Given the description of an element on the screen output the (x, y) to click on. 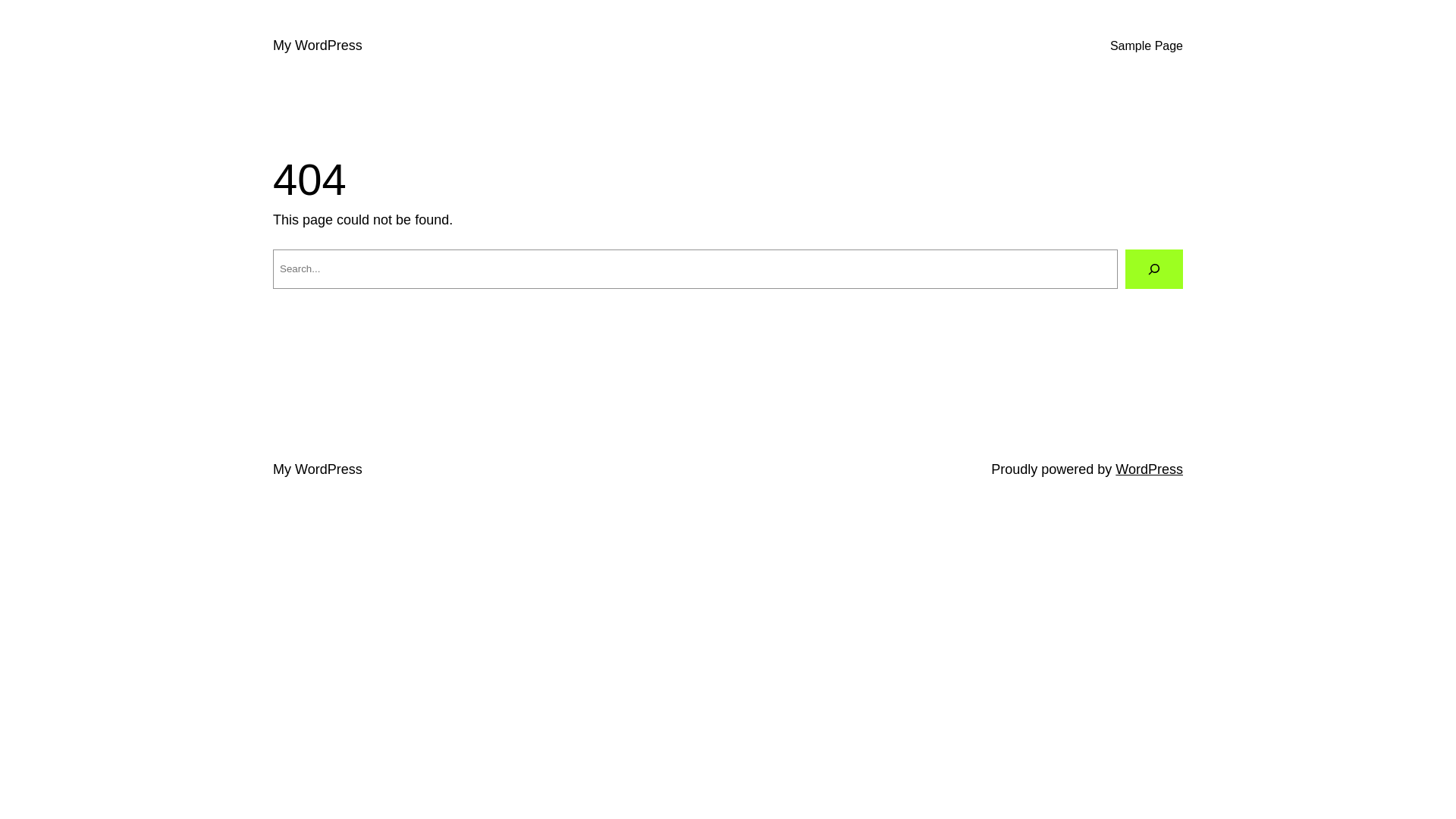
My WordPress Element type: text (317, 45)
Sample Page Element type: text (1146, 46)
My WordPress Element type: text (317, 468)
WordPress Element type: text (1149, 468)
